Given the description of an element on the screen output the (x, y) to click on. 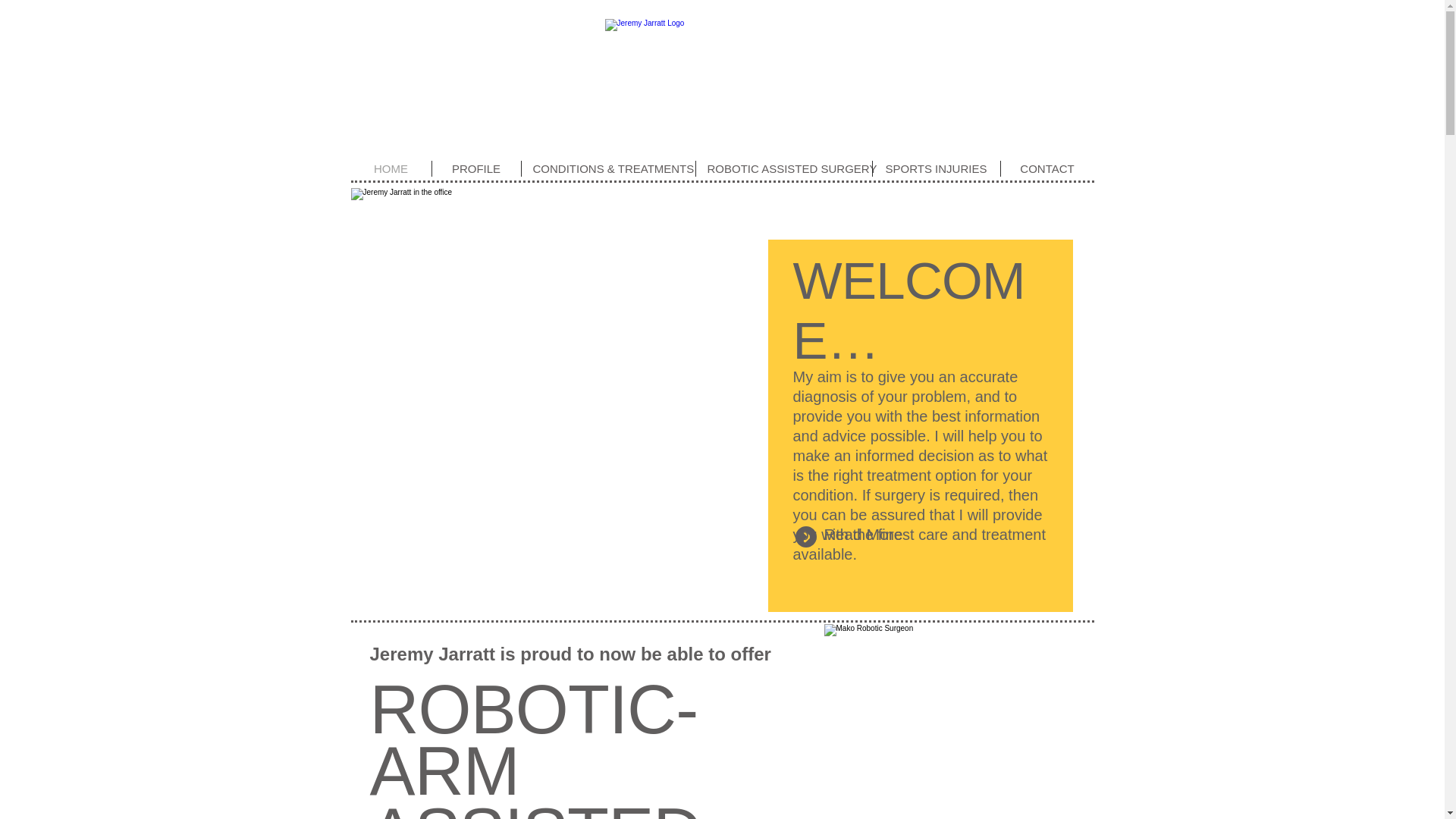
Read More (863, 533)
PROFILE (476, 168)
SPORTS INJURIES (935, 168)
ROBOTIC ASSISTED SURGERY (783, 168)
HOME (390, 168)
CONTACT (1047, 168)
